Given the description of an element on the screen output the (x, y) to click on. 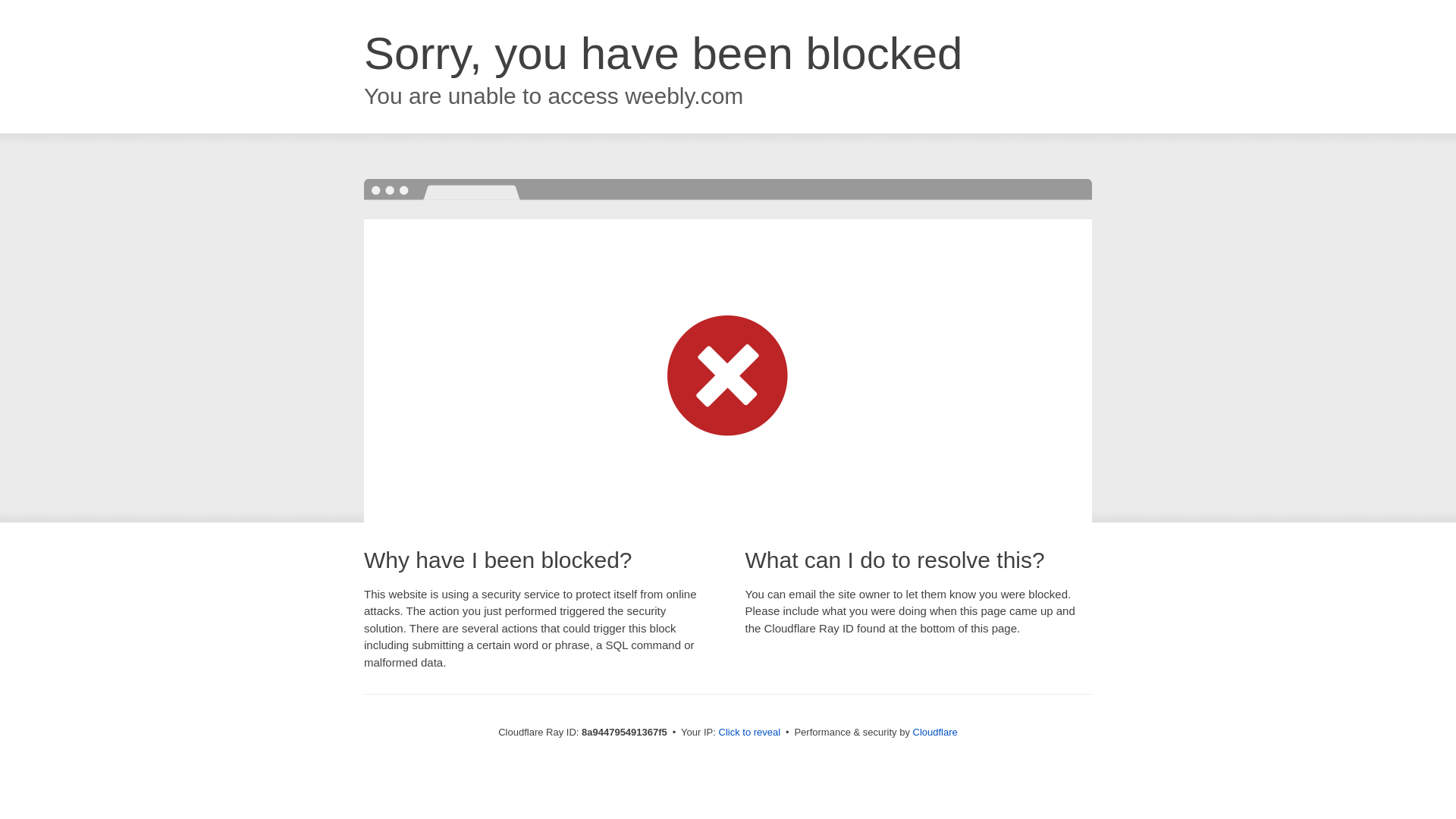
Cloudflare (935, 731)
Click to reveal (749, 732)
